Given the description of an element on the screen output the (x, y) to click on. 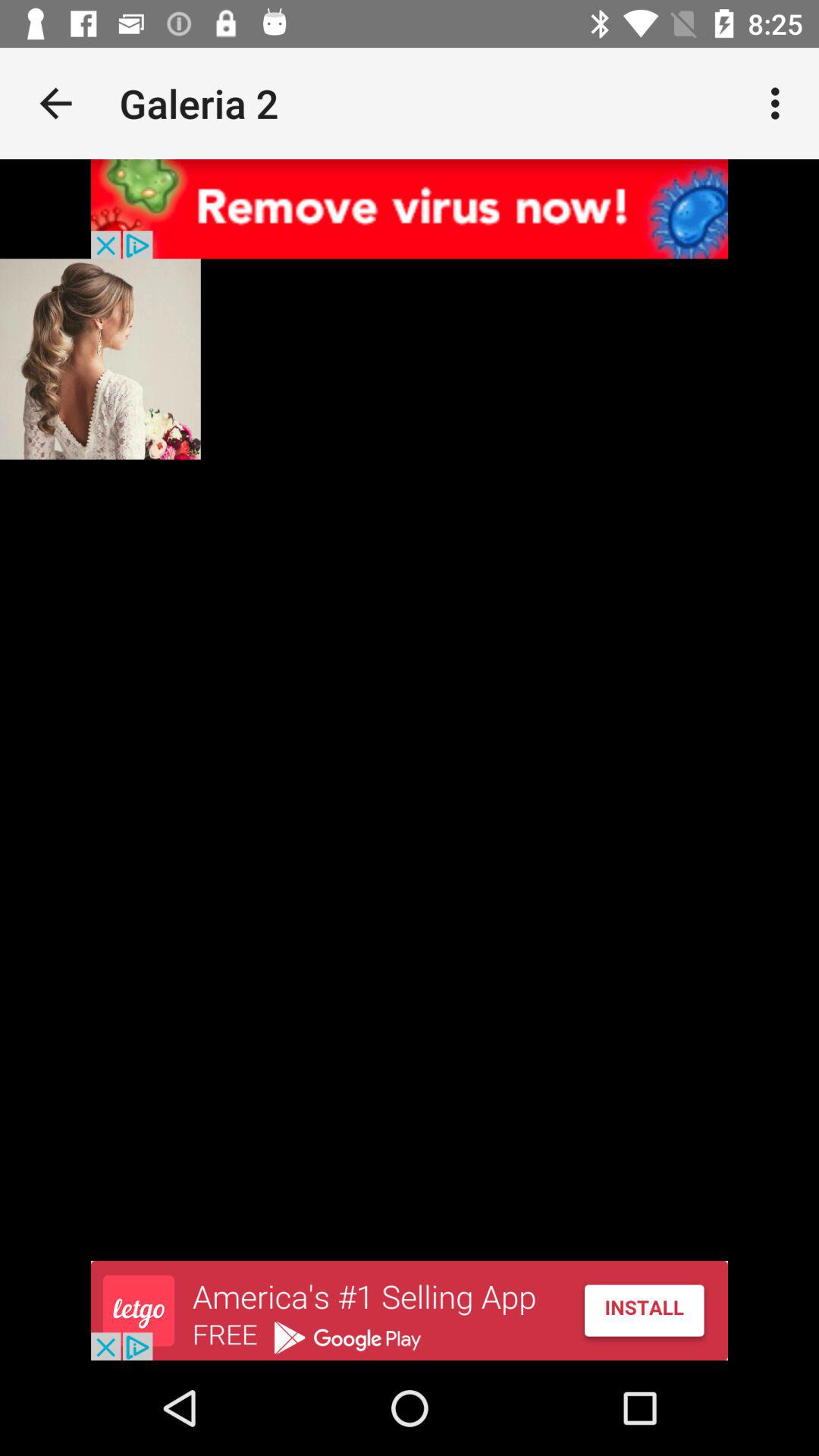
remove the virus in mobile (409, 208)
